Given the description of an element on the screen output the (x, y) to click on. 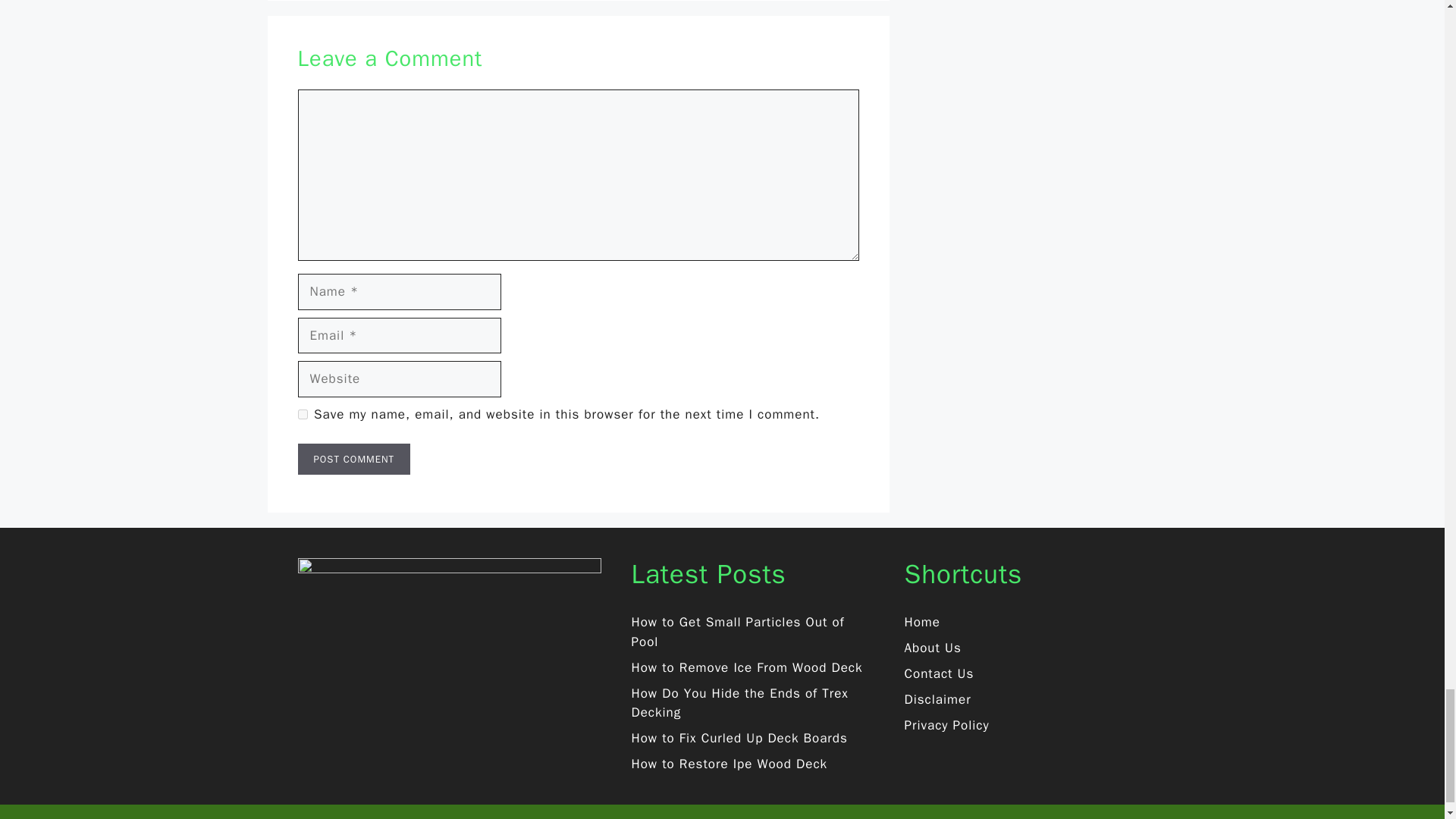
How to Fix Curled Up Deck Boards (738, 738)
How Do You Hide the Ends of Trex Decking (738, 703)
Home (921, 621)
yes (302, 414)
How to Get Small Particles Out of Pool (737, 632)
How to Remove Ice From Wood Deck (745, 667)
About Us (932, 647)
Post Comment (353, 459)
How to Restore Ipe Wood Deck (728, 763)
Post Comment (353, 459)
